Given the description of an element on the screen output the (x, y) to click on. 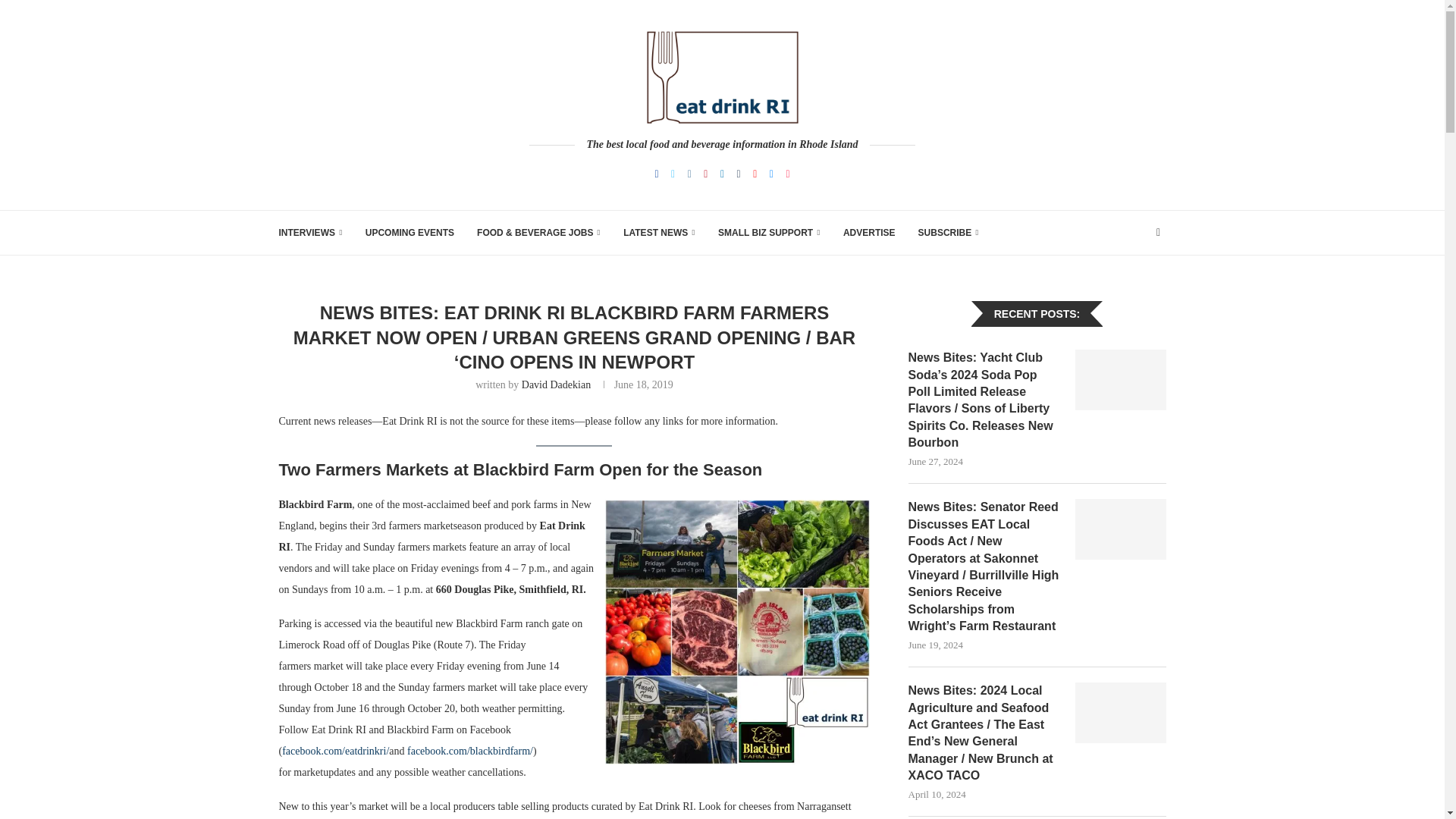
David Dadekian (556, 384)
SUBSCRIBE (948, 232)
SMALL BIZ SUPPORT (769, 232)
UPCOMING EVENTS (409, 232)
INTERVIEWS (310, 232)
LATEST NEWS (659, 232)
ADVERTISE (869, 232)
